Given the description of an element on the screen output the (x, y) to click on. 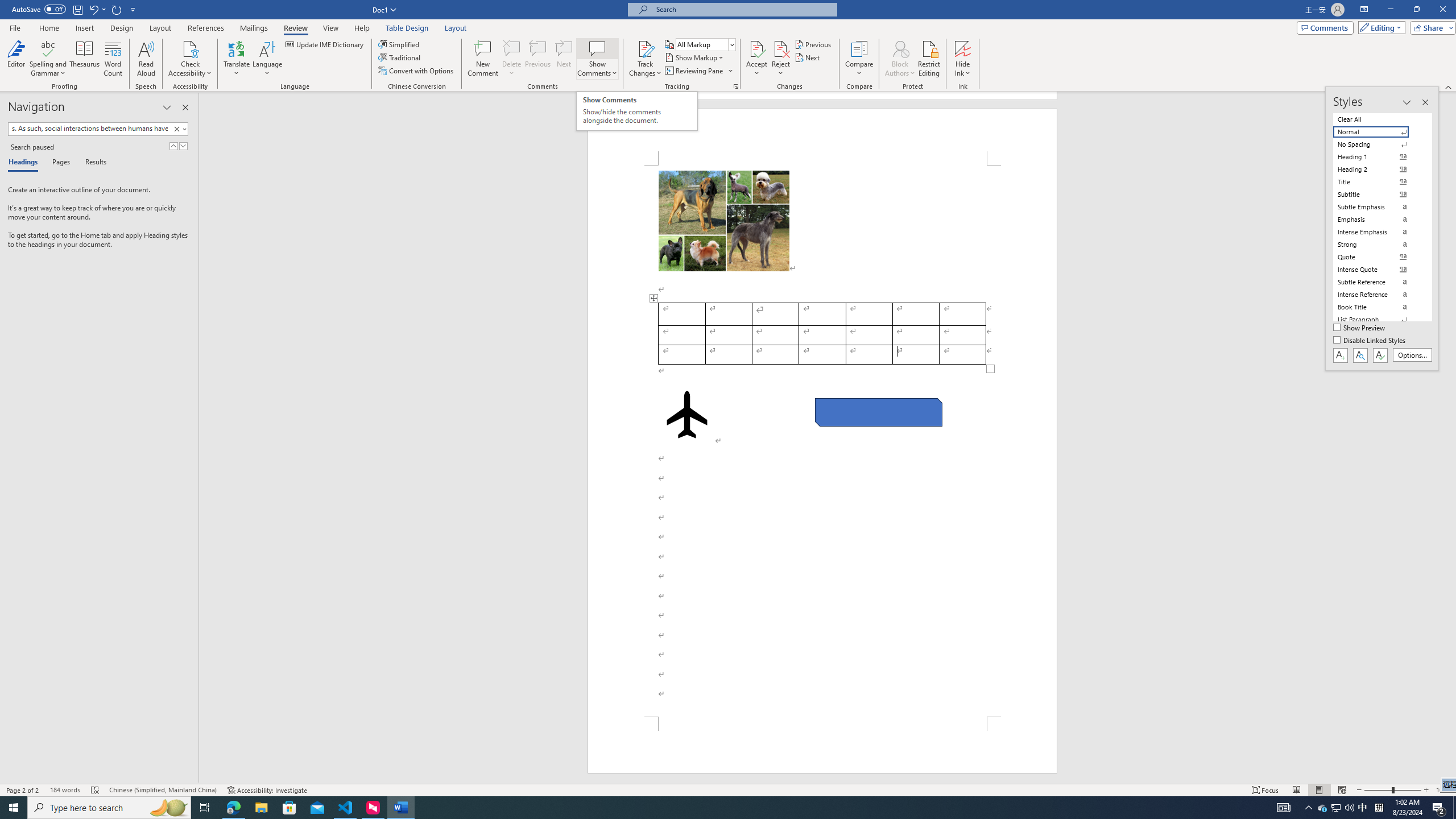
Track Changes (644, 48)
Reviewing Pane (694, 69)
Clear (176, 128)
Next (808, 56)
Repeat Style (117, 9)
No Spacing (1377, 144)
Accept (756, 58)
Reviewing Pane (698, 69)
Check Accessibility (189, 58)
